Given the description of an element on the screen output the (x, y) to click on. 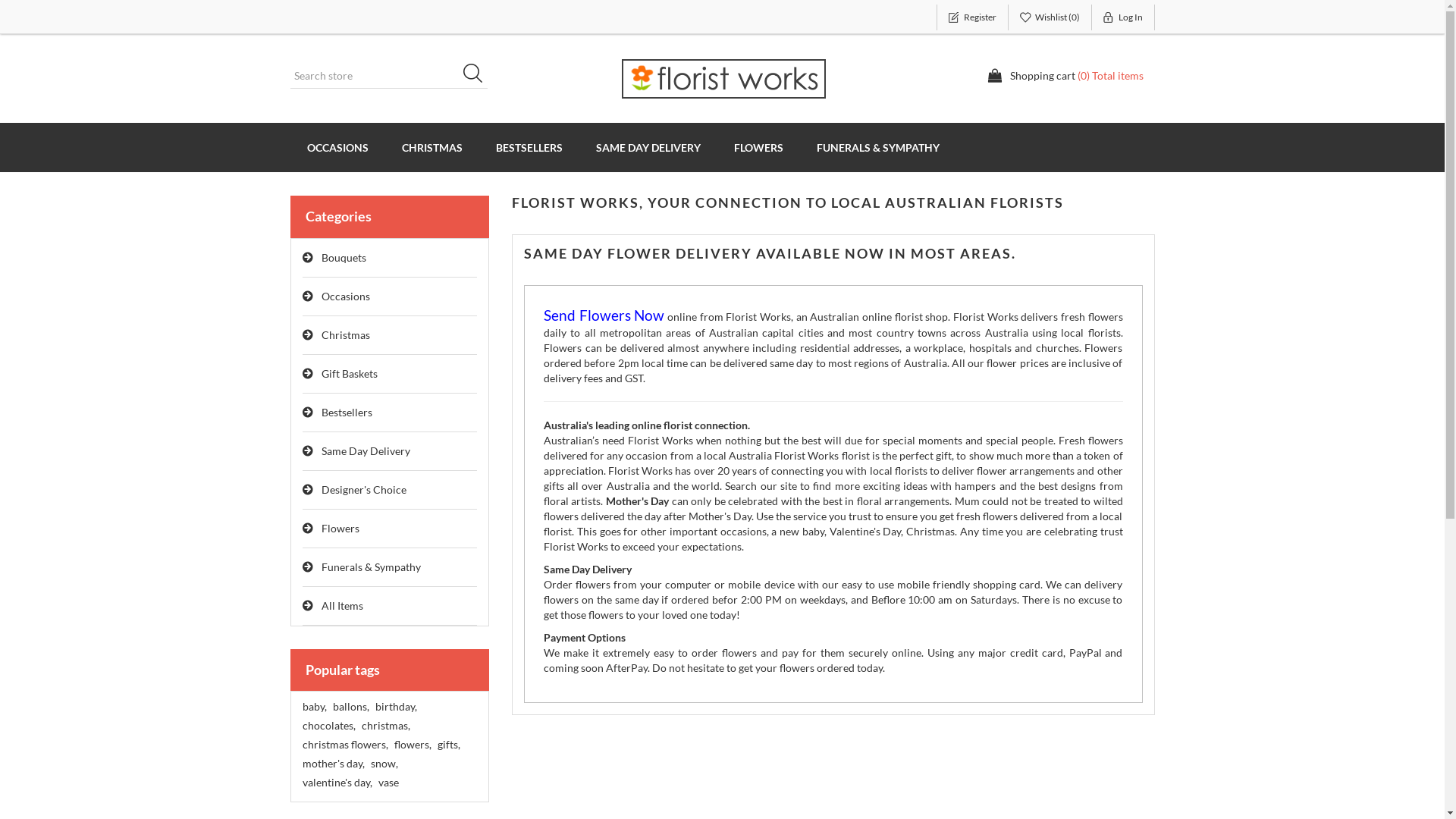
valentine's day, Element type: text (336, 782)
BESTSELLERS Element type: text (529, 147)
Send Flowers Now Element type: text (603, 316)
christmas, Element type: text (384, 725)
christmas flowers, Element type: text (344, 744)
OCCASIONS Element type: text (336, 147)
Flowers Element type: text (388, 528)
gifts, Element type: text (447, 744)
Bouquets Element type: text (388, 257)
flowers, Element type: text (412, 744)
Bestsellers Element type: text (388, 412)
SAME DAY DELIVERY Element type: text (648, 147)
All Items Element type: text (388, 605)
birthday, Element type: text (395, 706)
vase Element type: text (387, 782)
mother's day, Element type: text (332, 763)
Designer's Choice Element type: text (388, 489)
Wishlist (0) Element type: text (1050, 17)
Shopping cart (0) Total items Element type: text (1065, 75)
FUNERALS & SYMPATHY Element type: text (877, 147)
Funerals & Sympathy Element type: text (388, 567)
chocolates, Element type: text (327, 725)
Occasions Element type: text (388, 296)
Same Day Delivery Element type: text (388, 451)
Register Element type: text (971, 17)
Christmas Element type: text (388, 335)
ballons, Element type: text (350, 706)
Gift Baskets Element type: text (388, 373)
baby, Element type: text (313, 706)
snow, Element type: text (383, 763)
FLOWERS Element type: text (758, 147)
Log In Element type: text (1123, 17)
CHRISTMAS Element type: text (432, 147)
